Given the description of an element on the screen output the (x, y) to click on. 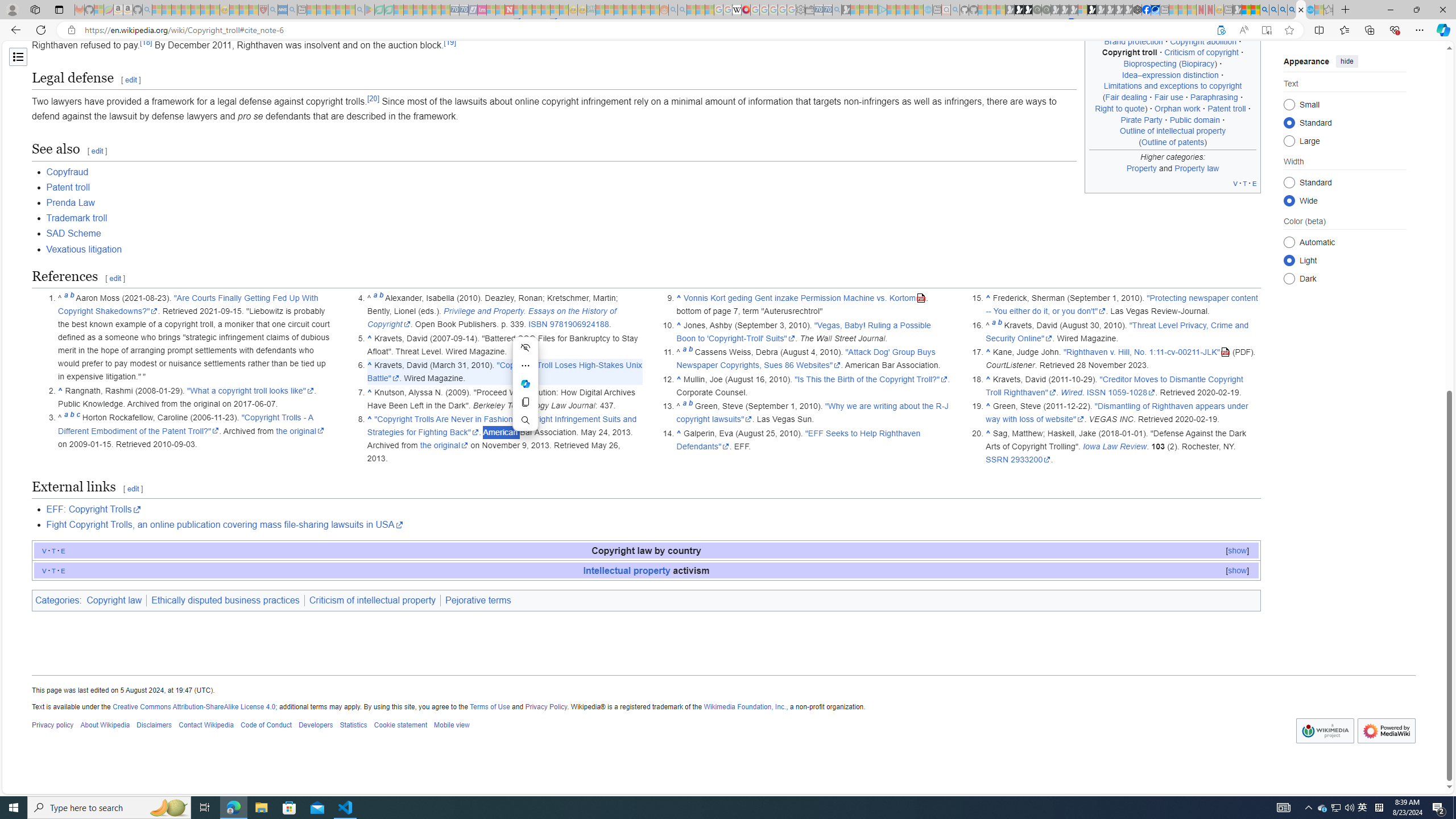
Brand protection (1133, 40)
Right to quote) (1120, 108)
Home | Sky Blue Bikes - Sky Blue Bikes - Sleeping (927, 9)
Outline of intellectual property (1172, 130)
Copy (525, 402)
Criticism of intellectual property (372, 600)
Wide (1289, 200)
Local - MSN - Sleeping (253, 9)
About Wikipedia (104, 725)
Vexatious litigation (84, 248)
